Given the description of an element on the screen output the (x, y) to click on. 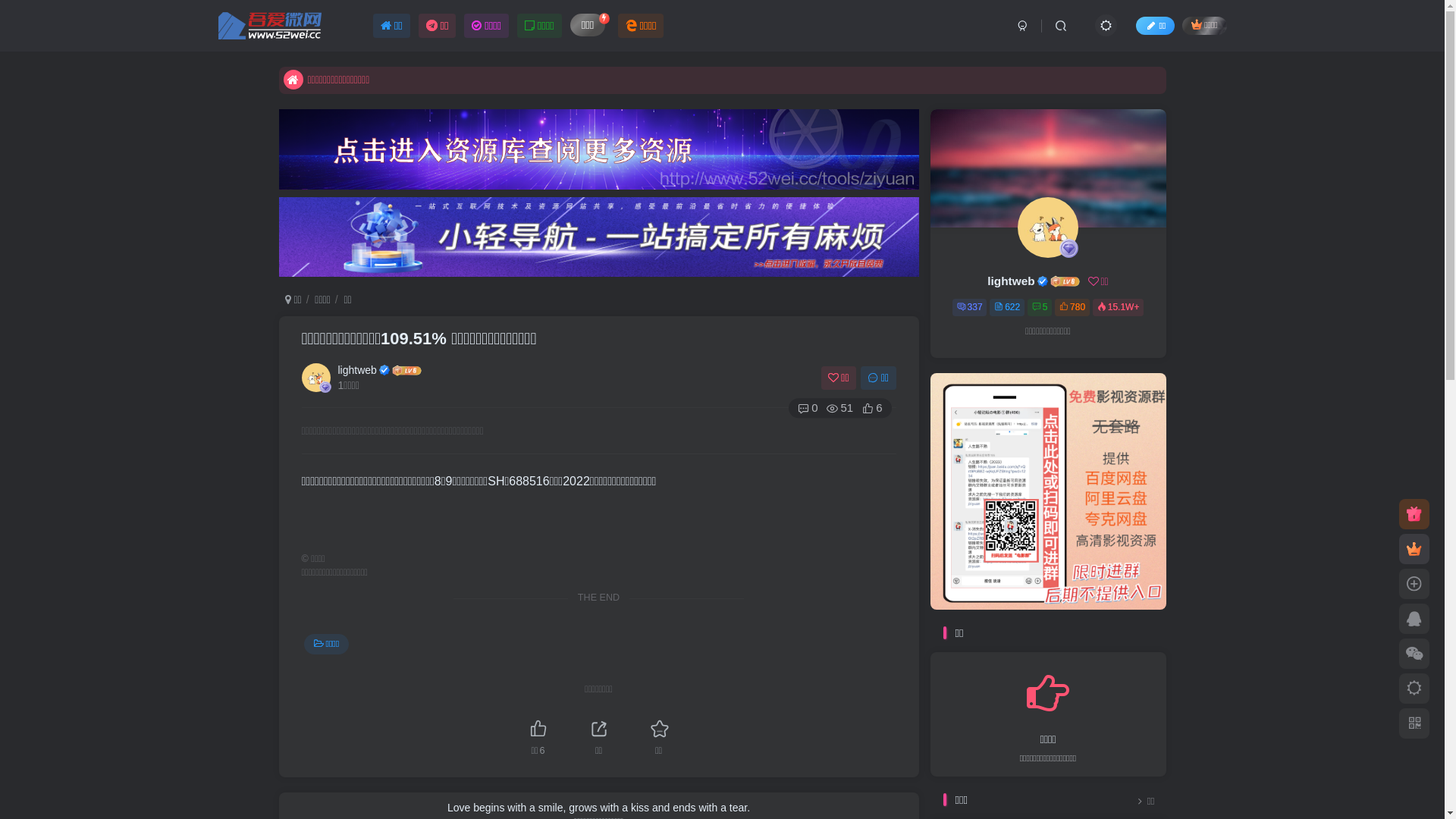
lightweb Element type: text (357, 369)
0 Element type: text (807, 407)
622 Element type: text (1006, 307)
lightweb Element type: text (1010, 281)
5 Element type: text (1039, 307)
337 Element type: text (969, 307)
